Given the description of an element on the screen output the (x, y) to click on. 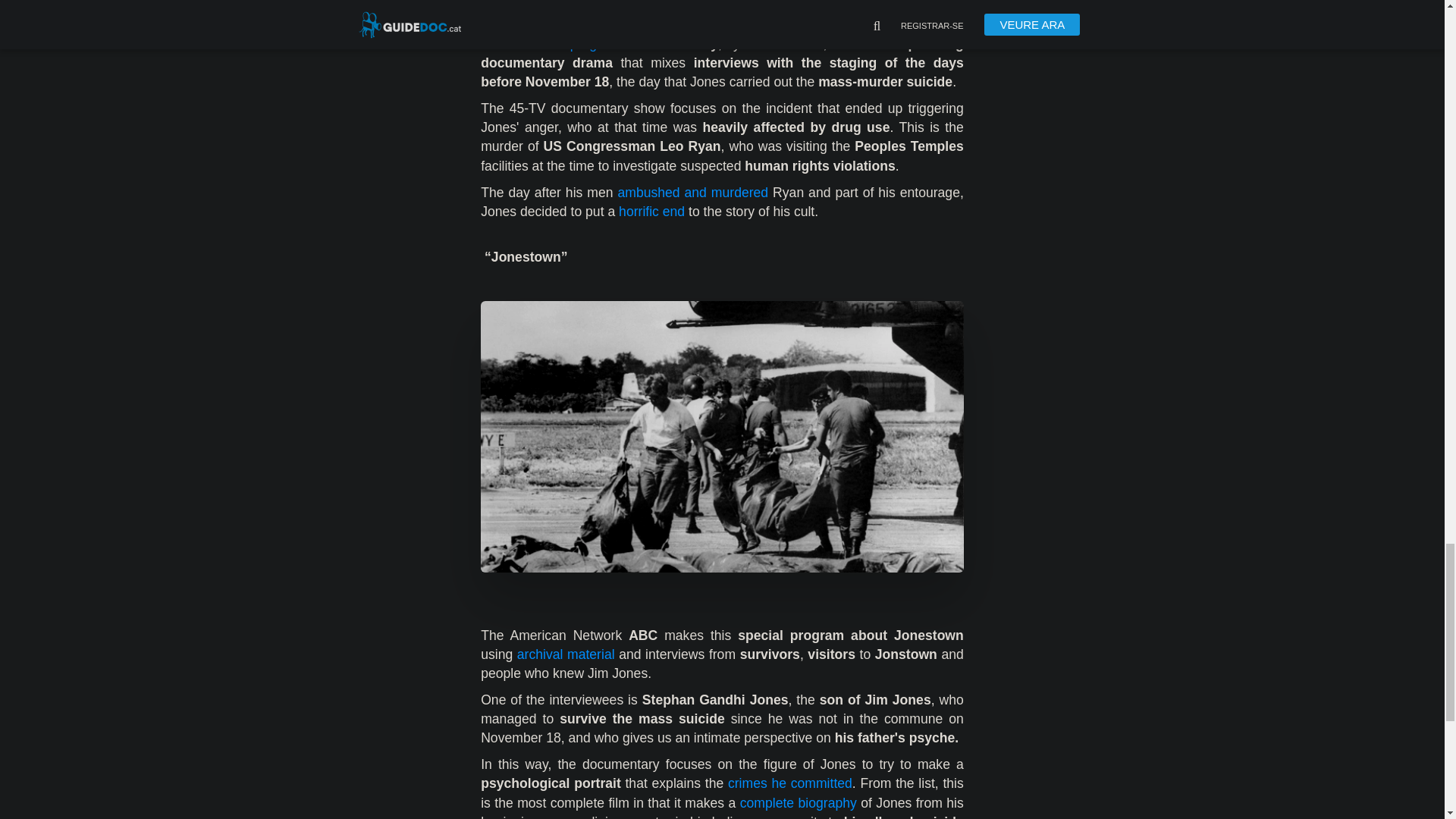
TV program (584, 43)
